Given the description of an element on the screen output the (x, y) to click on. 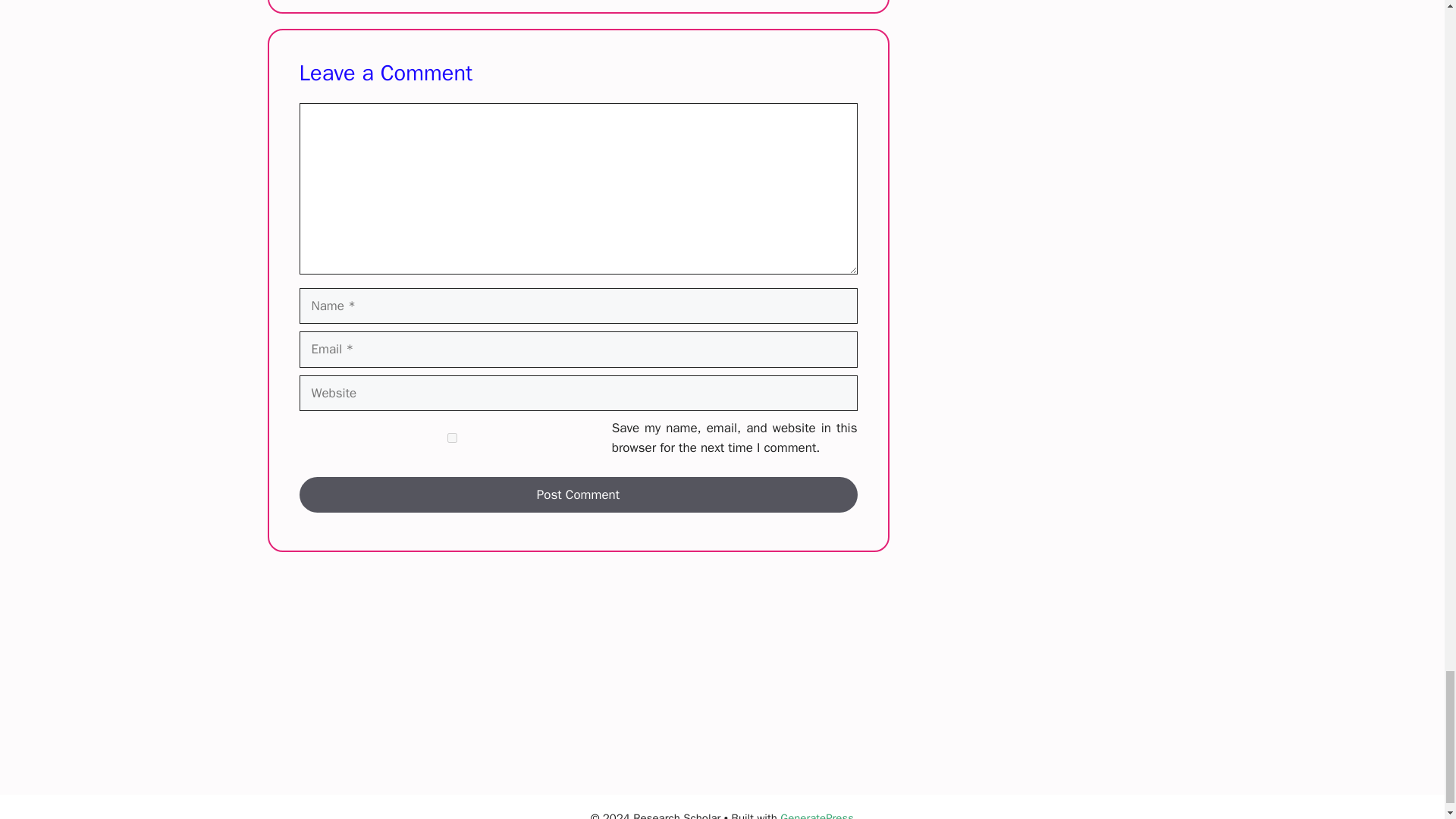
yes (451, 438)
Post Comment (577, 494)
